Given the description of an element on the screen output the (x, y) to click on. 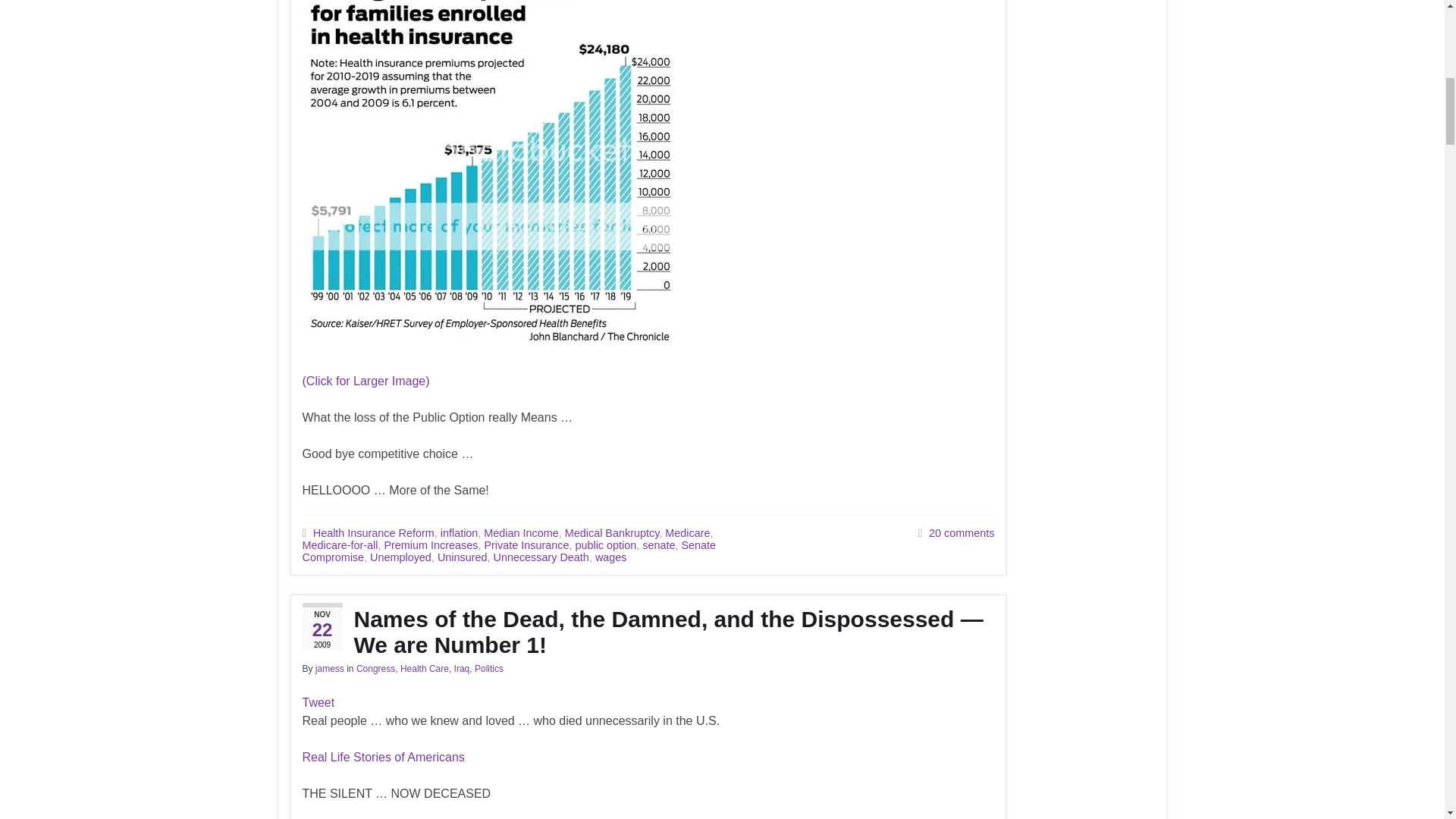
Median Income (520, 532)
Medicare (687, 532)
Medical Bankruptcy (611, 532)
Unnecessary Death (540, 557)
wages (611, 557)
public option (605, 544)
senate (658, 544)
inflation (460, 532)
Medicare-for-all (339, 544)
Premium Increases (430, 544)
Health Insurance Reform (373, 532)
Unemployed (399, 557)
20 comments (961, 532)
Private Insurance (526, 544)
Senate Compromise (508, 550)
